Given the description of an element on the screen output the (x, y) to click on. 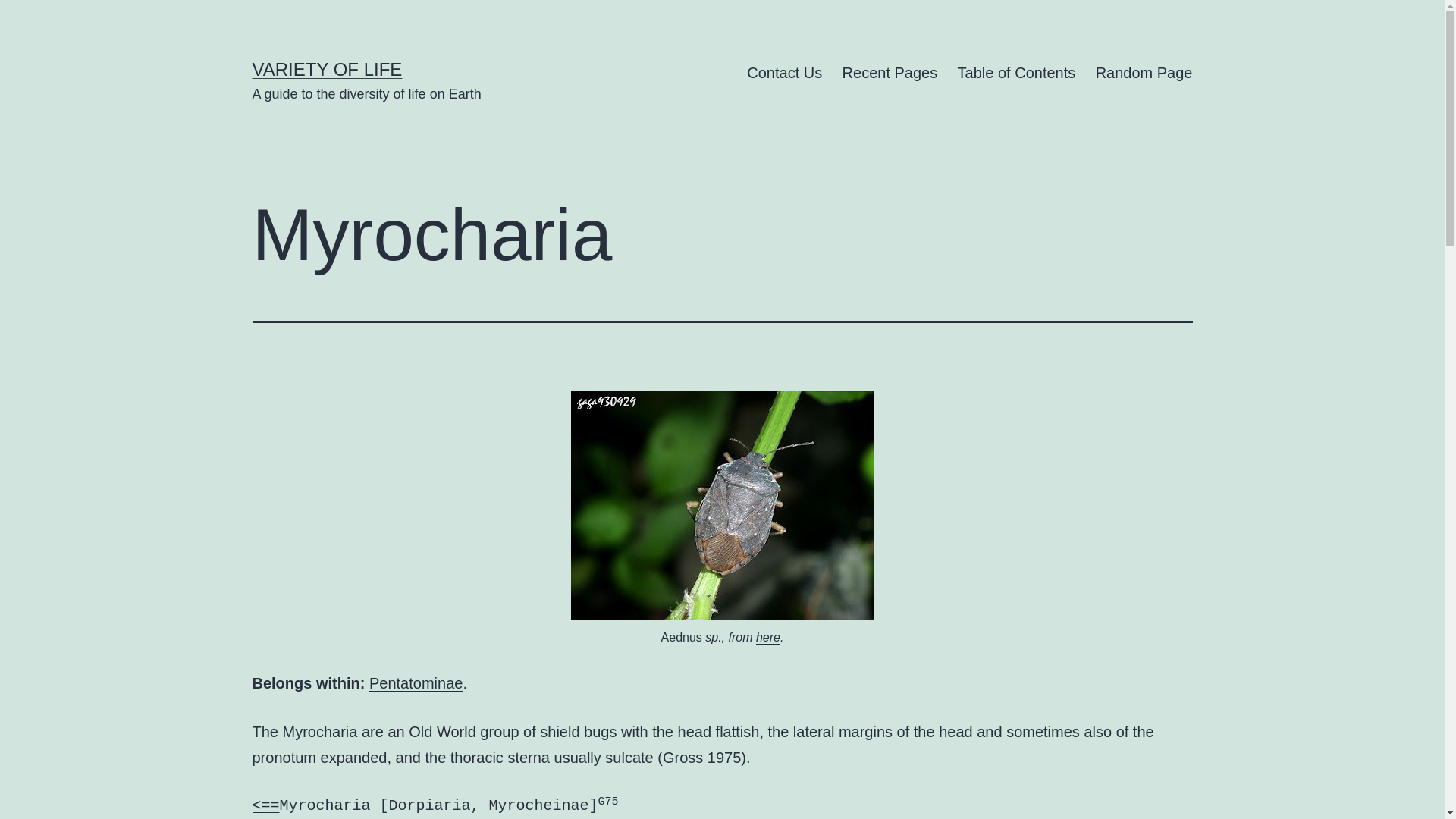
VARIETY OF LIFE (326, 68)
Random Page (1143, 72)
Table of Contents (1015, 72)
Recent Pages (889, 72)
here (767, 636)
Pentatominae (416, 682)
Contact Us (783, 72)
